Given the description of an element on the screen output the (x, y) to click on. 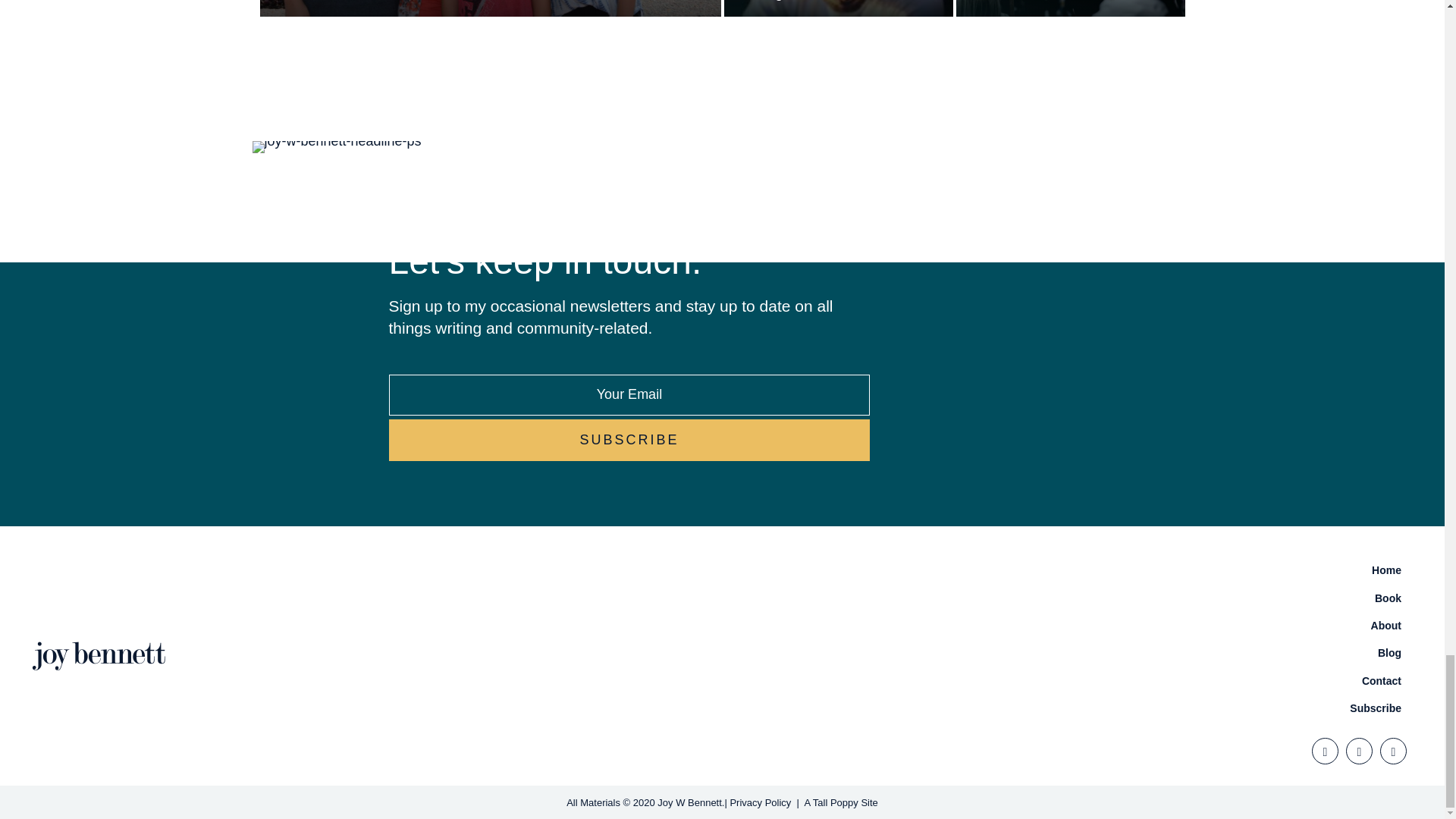
Home (1071, 569)
Subscribe (628, 440)
Blog (1071, 652)
Subscribe (1071, 707)
Subscribe (628, 440)
Contact (1071, 680)
Book (1071, 597)
About (1071, 625)
